Given the description of an element on the screen output the (x, y) to click on. 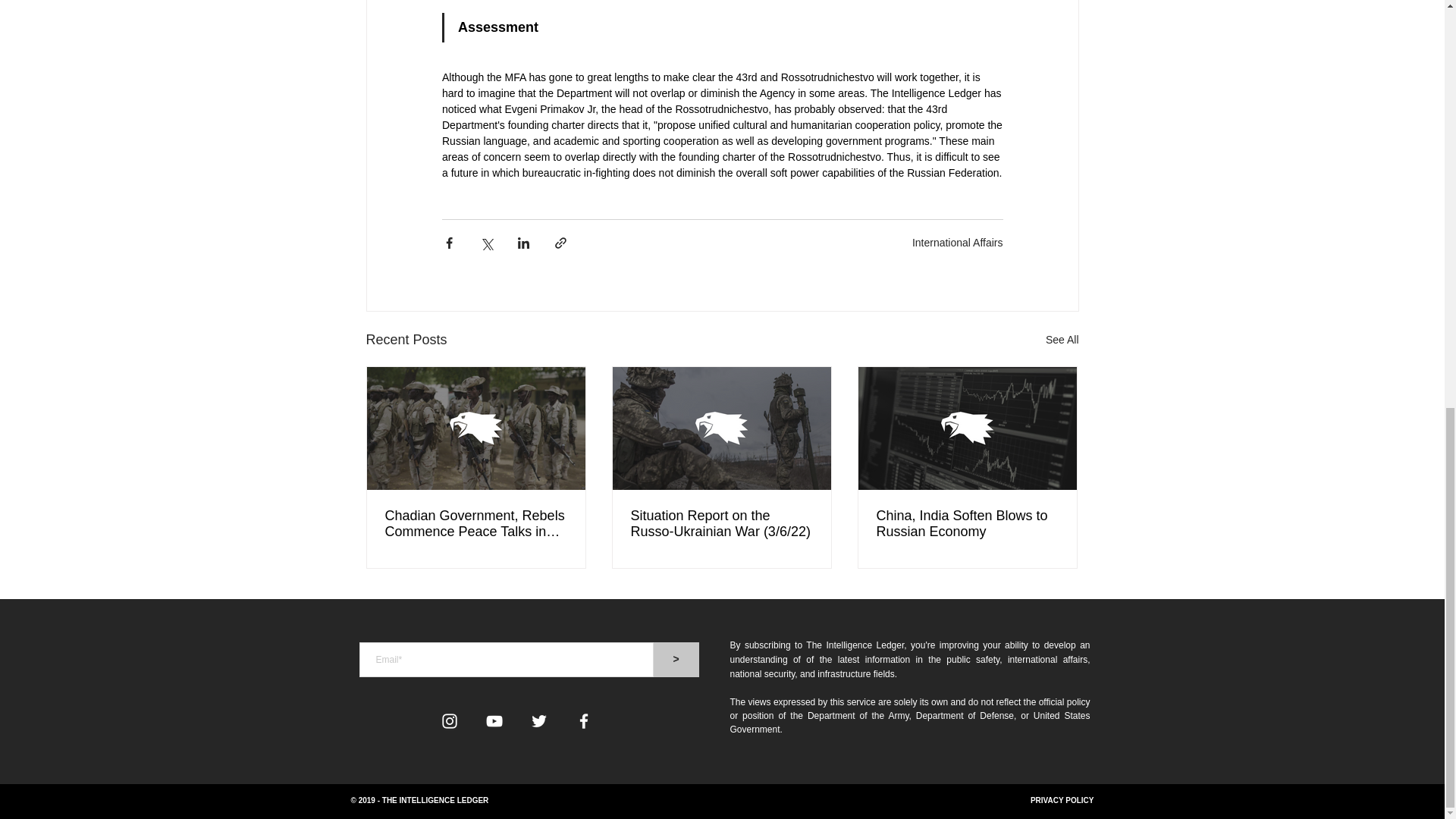
See All (1061, 340)
PRIVACY POLICY (1062, 800)
Chadian Government, Rebels Commence Peace Talks in Qatar (476, 523)
China, India Soften Blows to Russian Economy (967, 523)
International Affairs (957, 242)
